Given the description of an element on the screen output the (x, y) to click on. 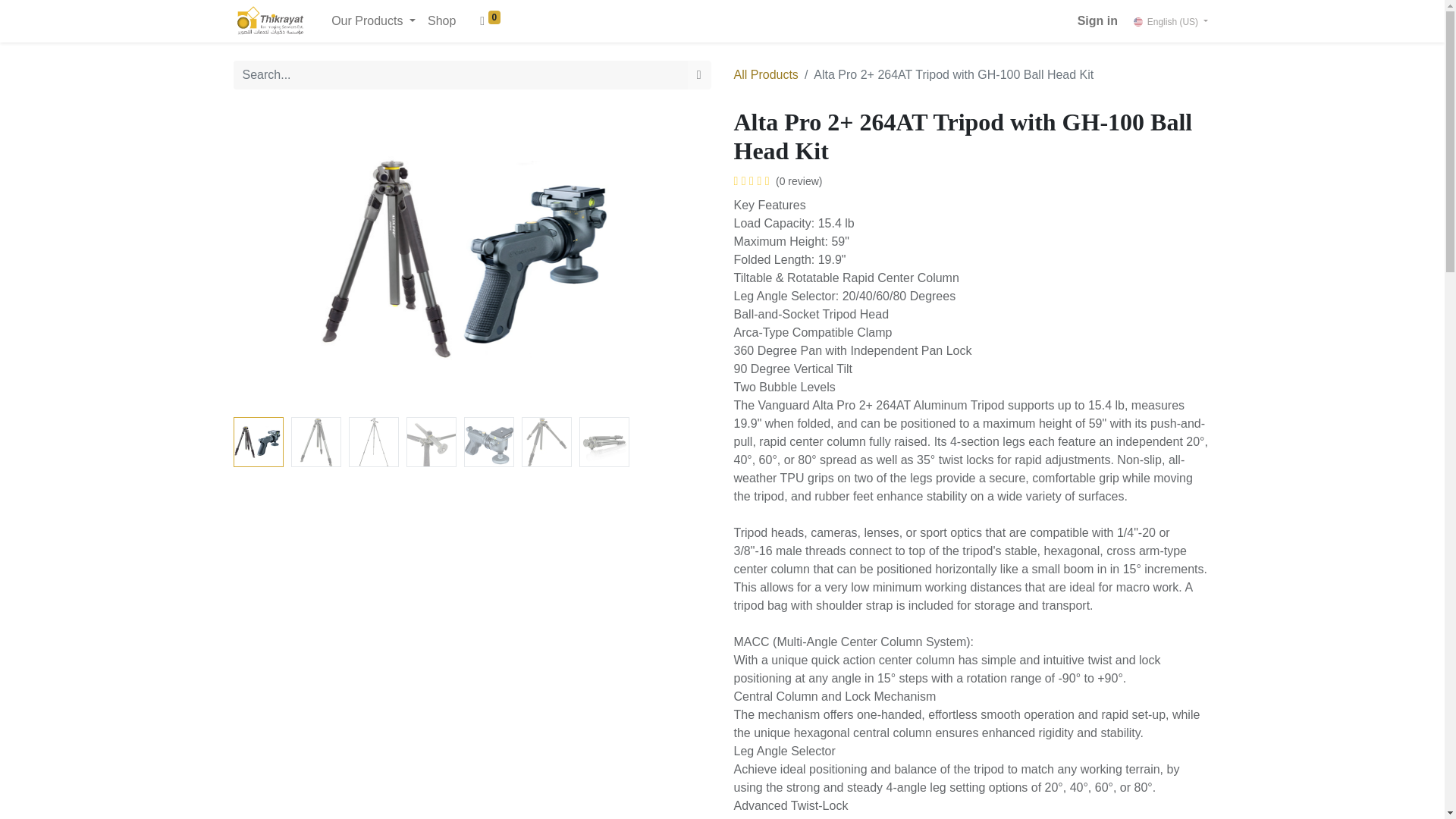
Shop (441, 20)
My Website (269, 20)
0 (490, 20)
Our Products (373, 20)
Sign in (1097, 20)
